Given the description of an element on the screen output the (x, y) to click on. 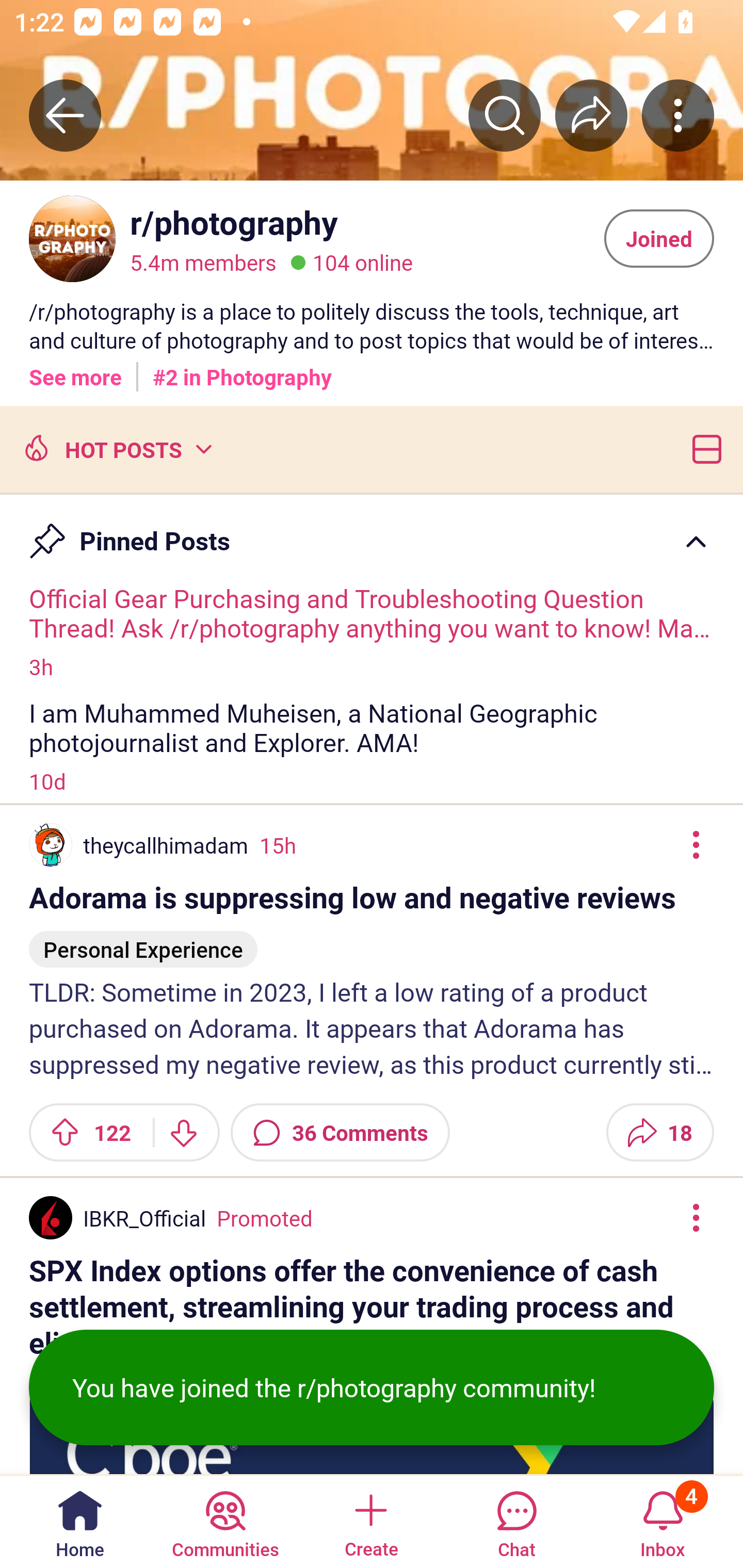
Back (64, 115)
Search r/﻿photography (504, 115)
Share r/﻿photography (591, 115)
More community actions (677, 115)
Hot posts HOT POSTS (116, 448)
Card (703, 448)
Pin Pinned Posts Caret (371, 531)
Personal Experience (142, 940)
Home (80, 1520)
Communities (225, 1520)
Create a post Create (370, 1520)
Chat (516, 1520)
Inbox, has 4 notifications 4 Inbox (662, 1520)
